Given the description of an element on the screen output the (x, y) to click on. 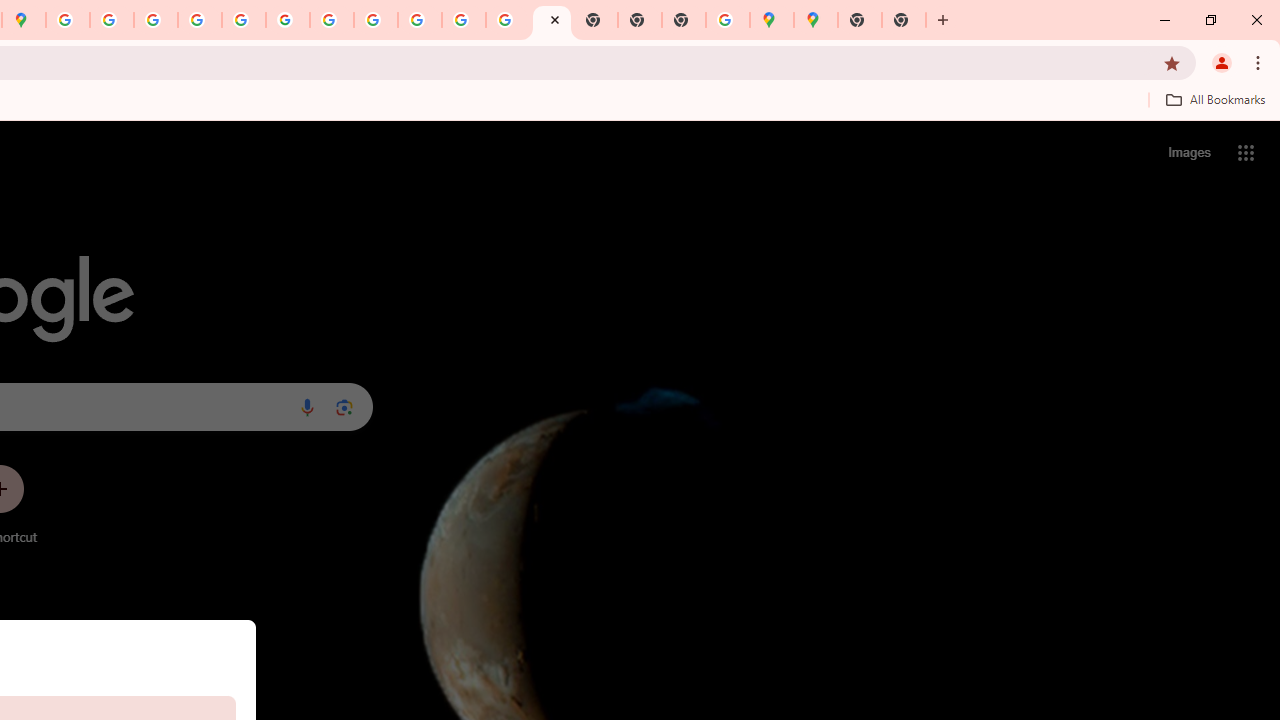
Google Maps (771, 20)
Use Google Maps in Space - Google Maps Help (728, 20)
New Tab (859, 20)
New Tab (683, 20)
